Given the description of an element on the screen output the (x, y) to click on. 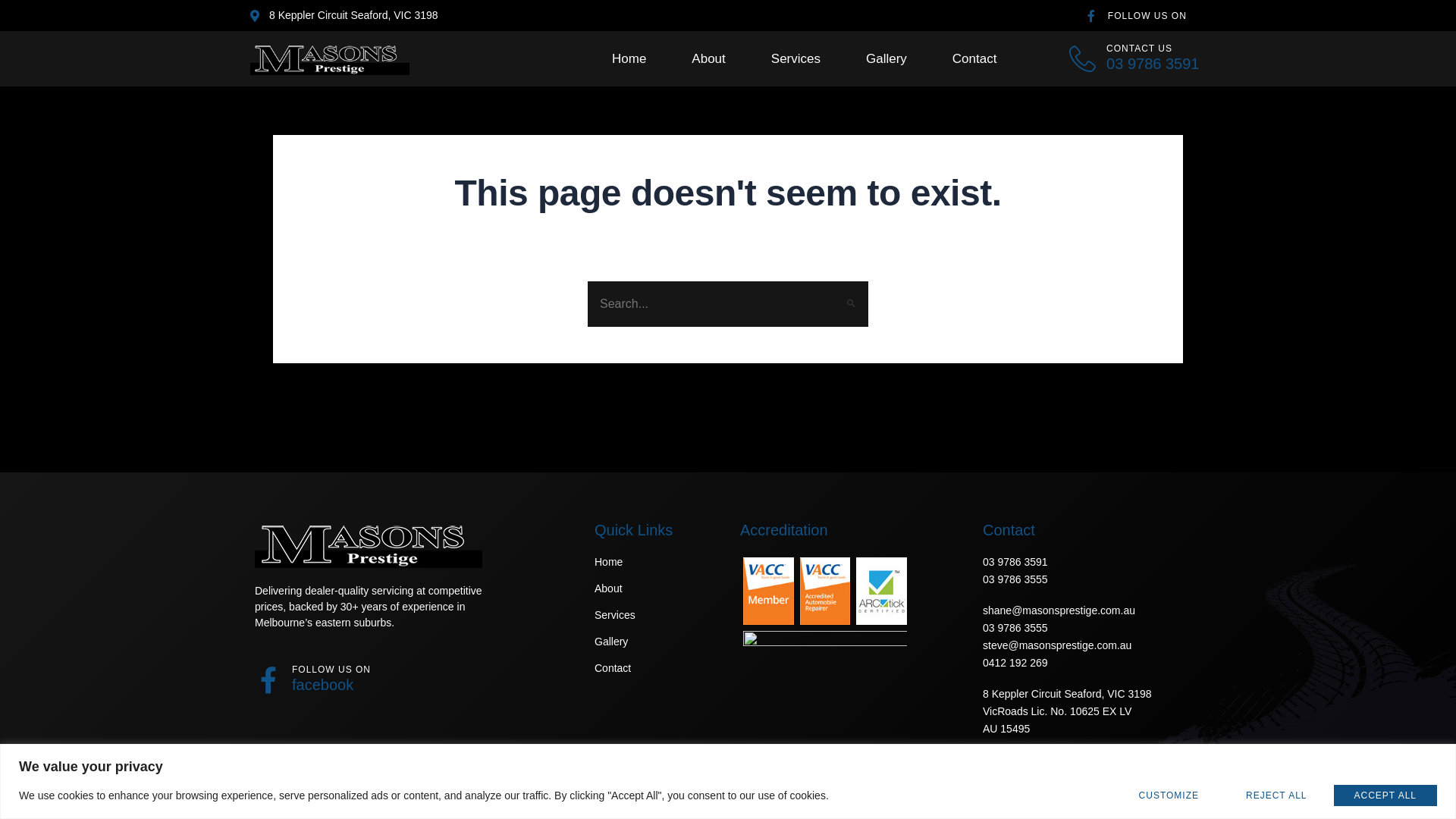
Gallery Element type: text (654, 641)
Home Element type: text (654, 562)
Gallery Element type: text (886, 58)
Home Element type: text (628, 58)
shane@masonsprestige.com.au Element type: text (1091, 610)
03 9786 3555 Element type: text (1091, 628)
REJECT ALL Element type: text (1276, 794)
About Element type: text (707, 58)
Services Element type: text (654, 615)
03 9786 3555 Element type: text (1091, 579)
ACCEPT ALL Element type: text (1385, 794)
FOLLOW US ON Element type: text (330, 669)
0412 192 269 Element type: text (1091, 663)
Search Element type: text (851, 295)
About Element type: text (654, 588)
Contact Element type: text (654, 668)
Contact Element type: text (974, 58)
CUSTOMIZE Element type: text (1168, 794)
Privacy Policy Element type: text (1079, 802)
Terms of service Element type: text (1169, 802)
steve@masonsprestige.com.au Element type: text (1091, 645)
Services Element type: text (795, 58)
03 9786 3591 Element type: text (1091, 562)
CONTACT US Element type: text (1139, 48)
